Given the description of an element on the screen output the (x, y) to click on. 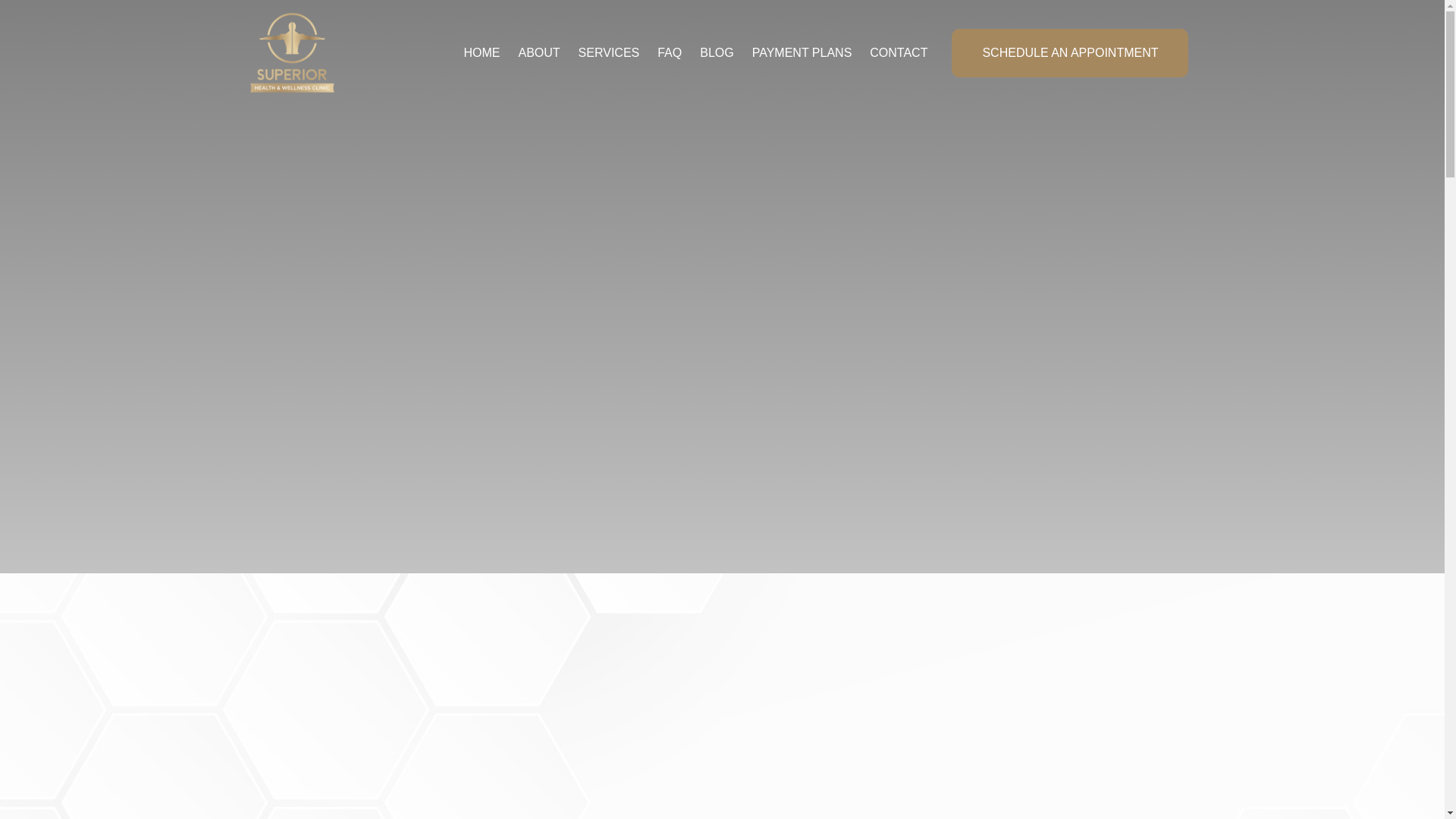
HOME (481, 52)
ABOUT (538, 52)
SERVICES (609, 52)
SCHEDULE AN APPOINTMENT (1070, 52)
CONTACT (898, 52)
BLOG (716, 52)
PAYMENT PLANS (801, 52)
